Given the description of an element on the screen output the (x, y) to click on. 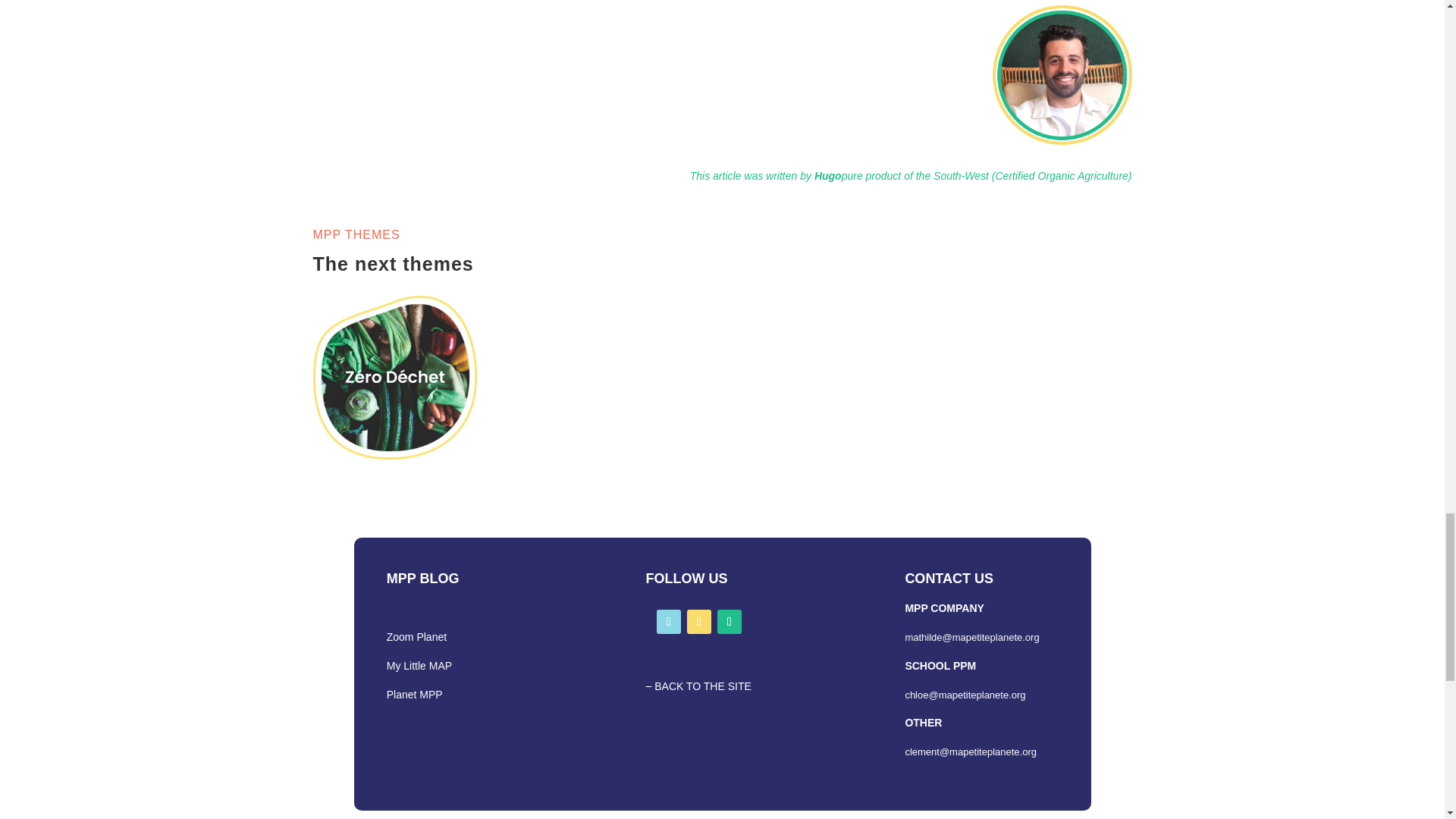
Zoom Planet (416, 636)
Follow on Instagram (729, 621)
Follow on LinkedIn (699, 621)
Group 4 (1062, 74)
Zoom Planet (416, 636)
Follow on Facebook (668, 621)
zero waste (394, 377)
My Little MAP (419, 665)
My Little MAP (419, 665)
Planet MPP (414, 694)
